Given the description of an element on the screen output the (x, y) to click on. 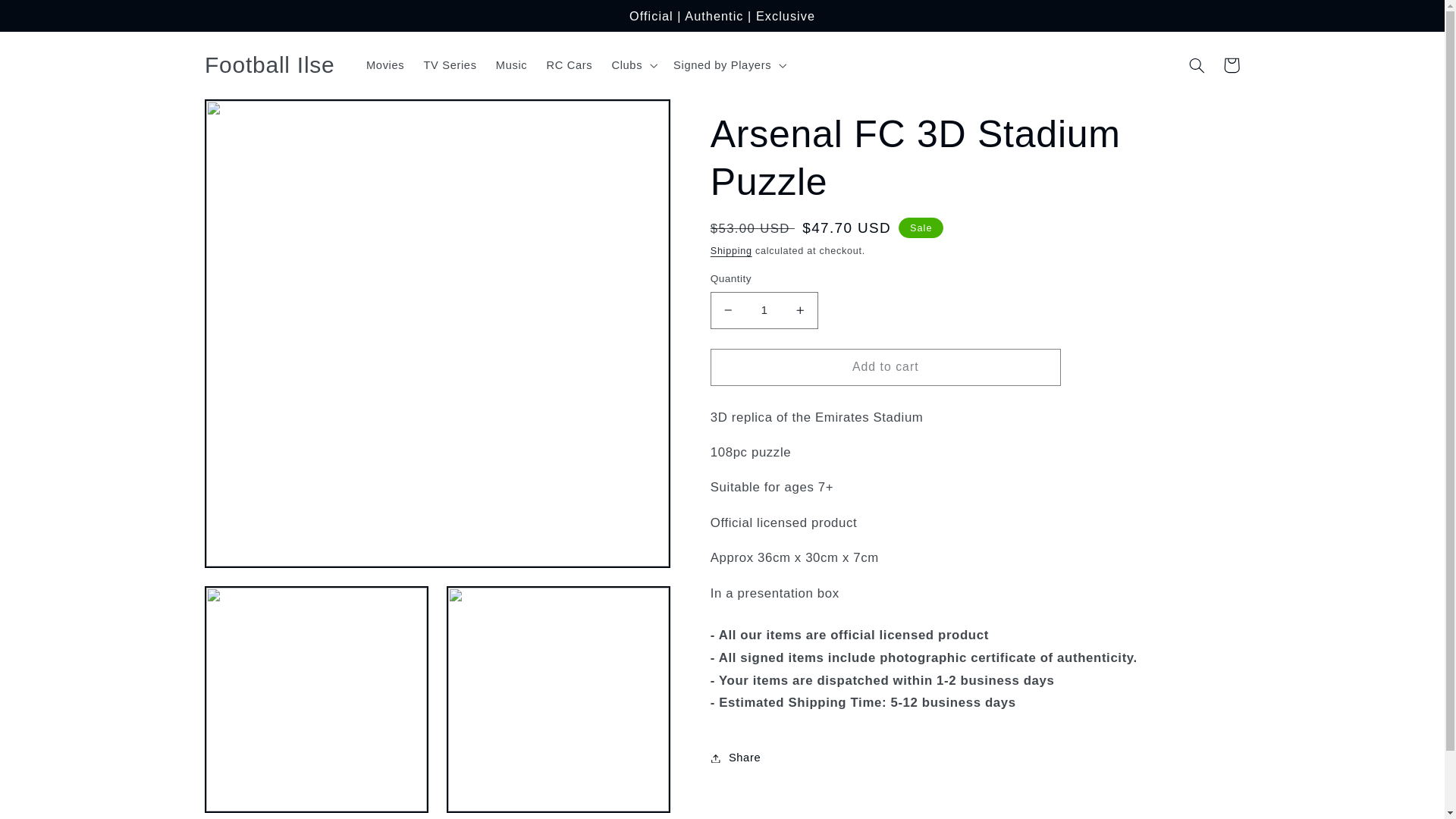
Football Ilse (269, 65)
Music (511, 64)
Skip to content (48, 18)
1 (764, 310)
Movies (384, 64)
TV Series (449, 64)
RC Cars (569, 64)
